Given the description of an element on the screen output the (x, y) to click on. 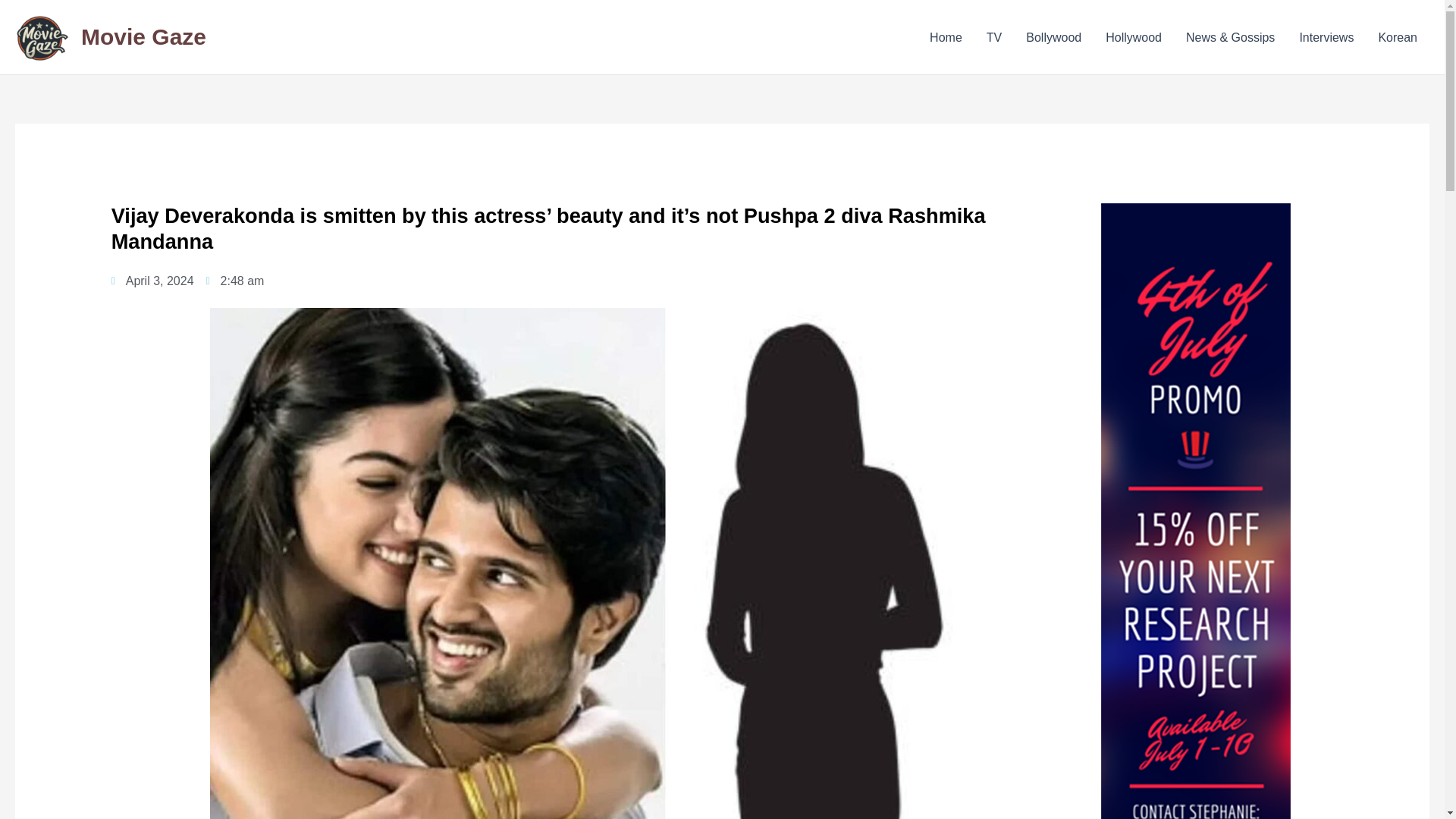
TV (993, 37)
Interviews (1326, 37)
Hollywood (1133, 37)
Korean (1397, 37)
April 3, 2024 (152, 281)
Home (945, 37)
Bollywood (1053, 37)
Movie Gaze (143, 36)
